Given the description of an element on the screen output the (x, y) to click on. 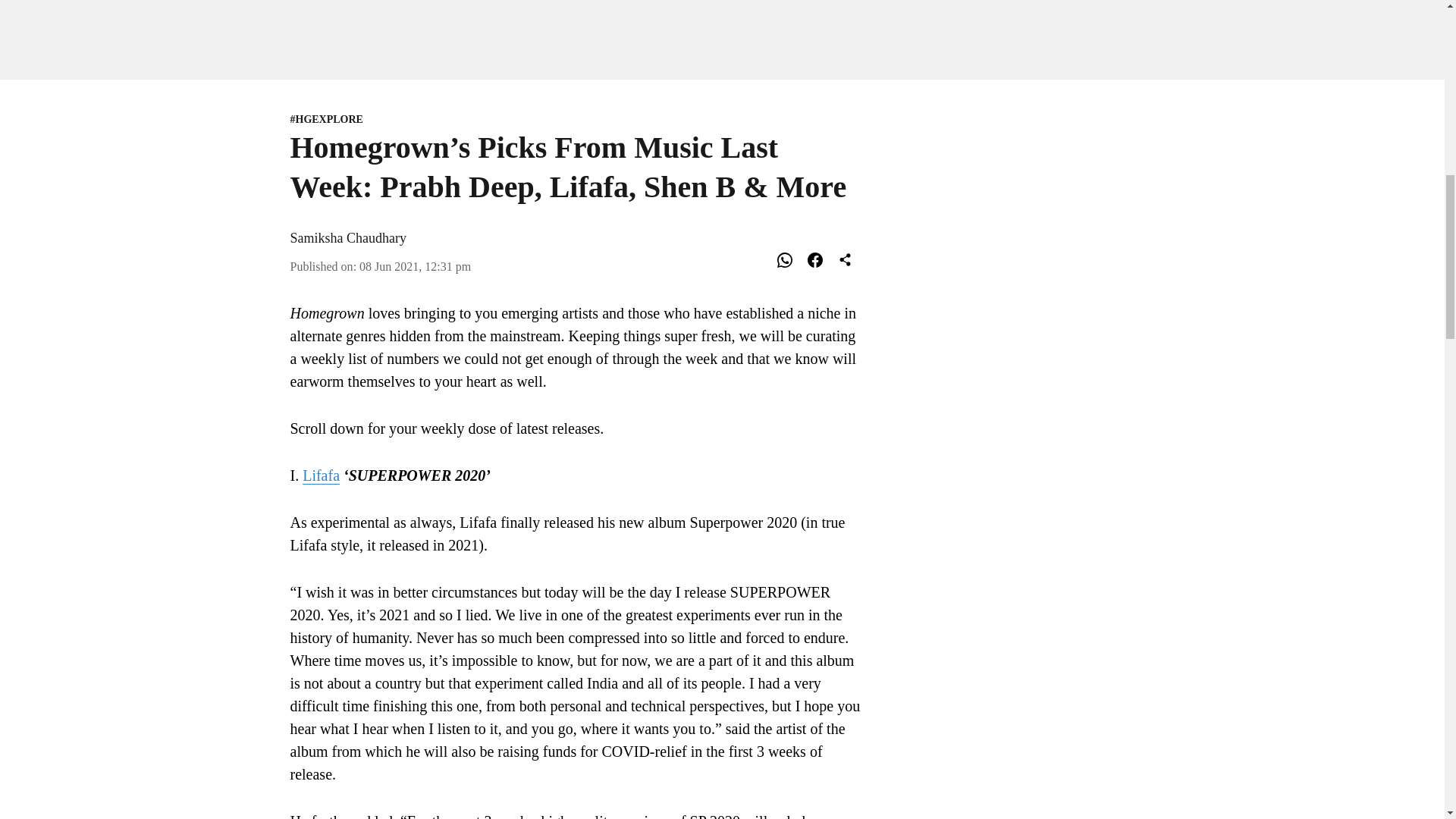
2021-06-08 12:31 (414, 266)
Samiksha Chaudhary (347, 237)
